Given the description of an element on the screen output the (x, y) to click on. 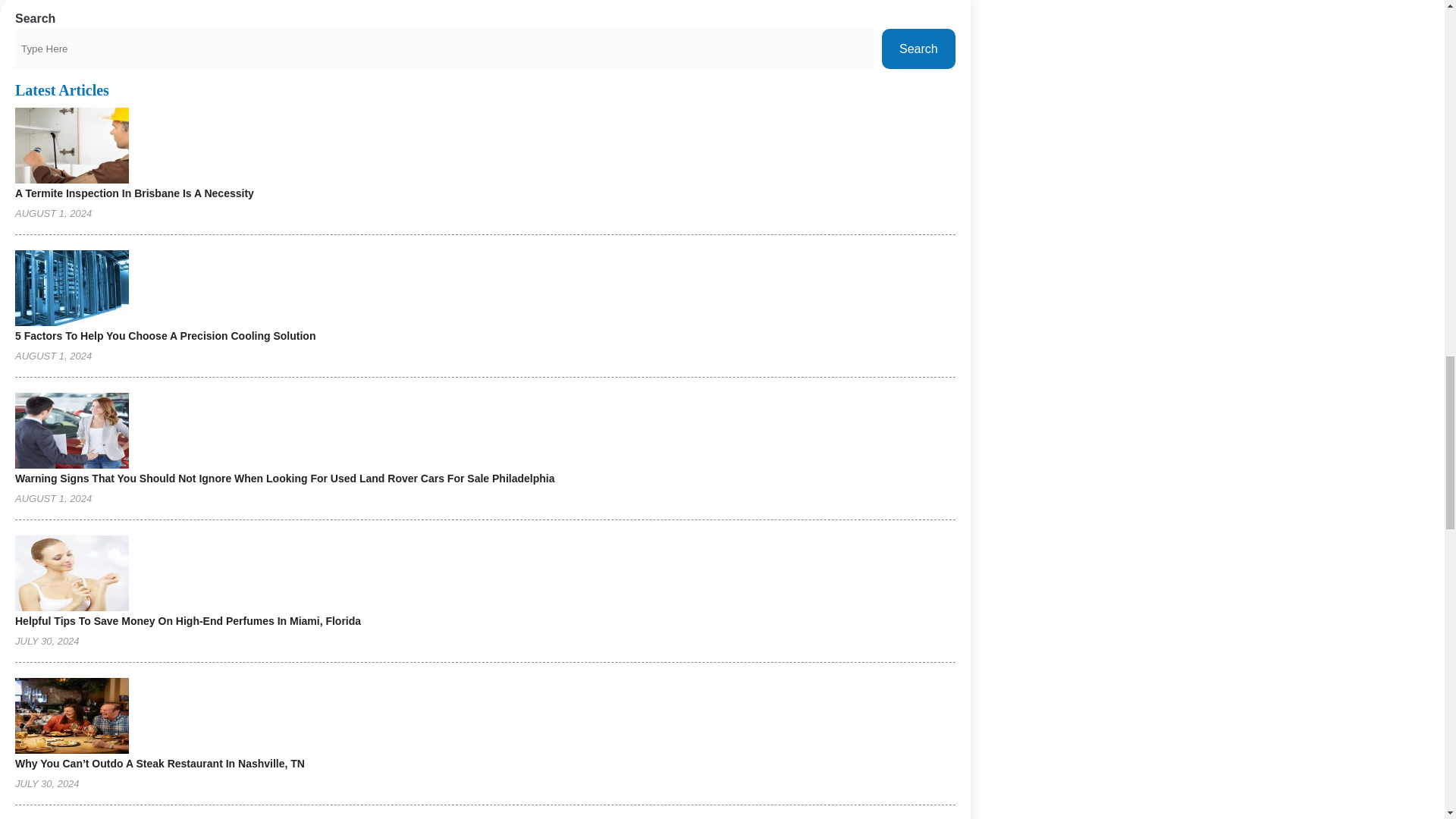
Search (918, 48)
A Termite Inspection In Brisbane Is A Necessity (133, 193)
5 Factors To Help You Choose A Precision Cooling Solution (164, 336)
